Given the description of an element on the screen output the (x, y) to click on. 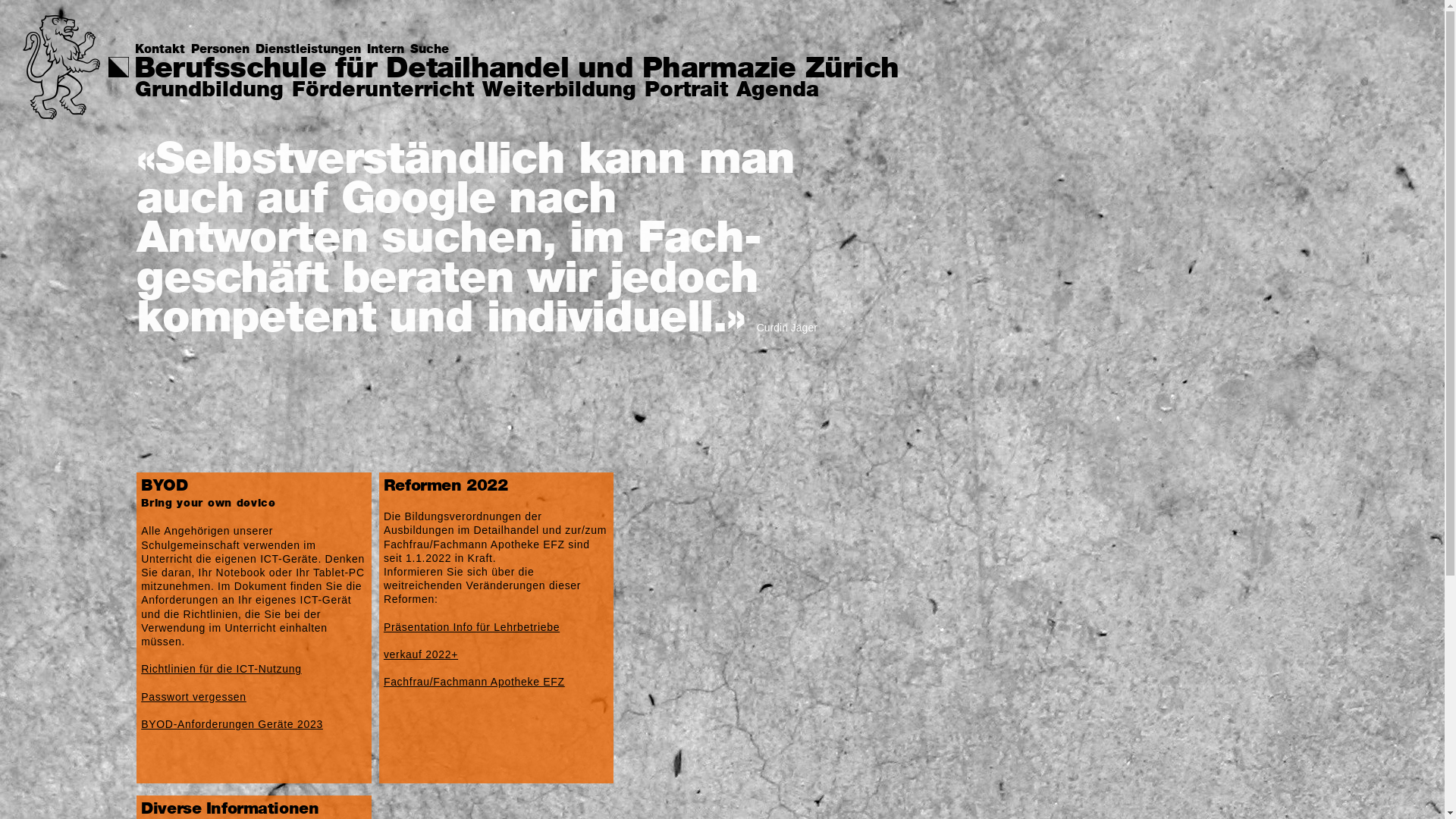
Grundbildung Element type: text (208, 90)
Intern Element type: text (388, 49)
Passwort vergessen Element type: text (193, 696)
Dienstleistungen Element type: text (311, 49)
Fachfrau/Fachmann Apotheke EFZ Element type: text (473, 681)
verkauf 2022+ Element type: text (420, 654)
Portrait Element type: text (686, 90)
Personen Element type: text (223, 49)
Agenda Element type: text (777, 90)
Suche Element type: text (432, 49)
Kontakt Element type: text (162, 49)
Weiterbildung Element type: text (559, 90)
